Given the description of an element on the screen output the (x, y) to click on. 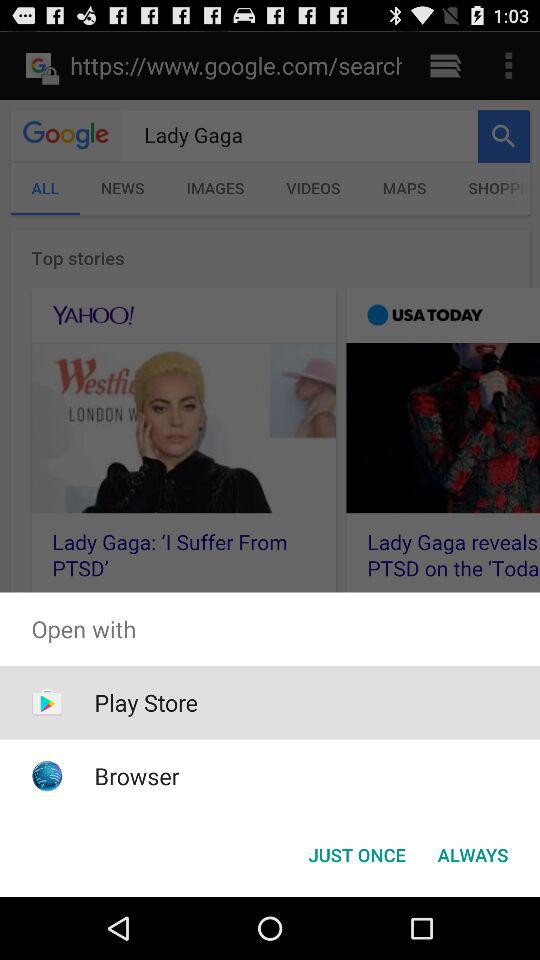
turn on the icon next to the just once button (472, 854)
